Given the description of an element on the screen output the (x, y) to click on. 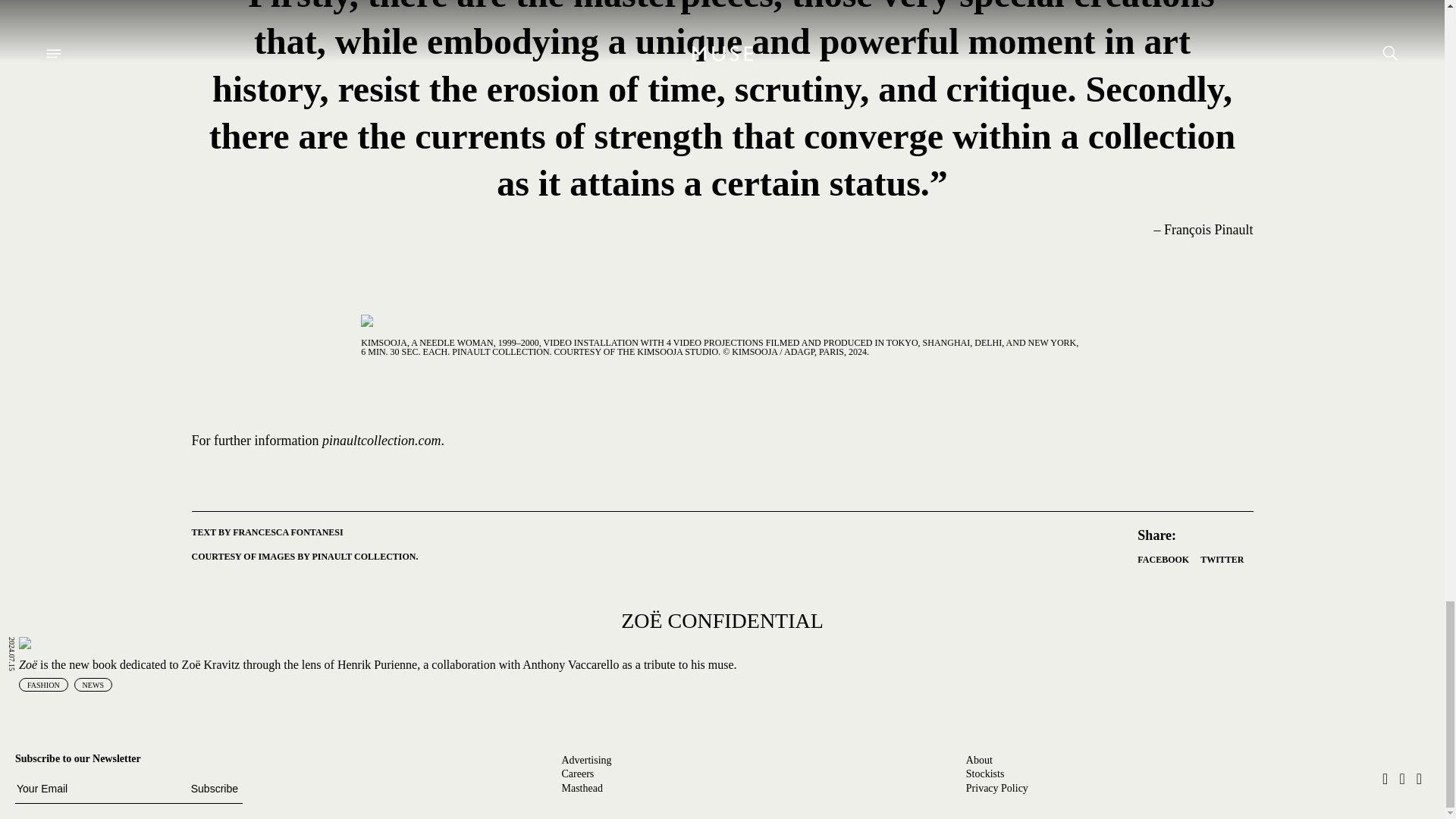
pinaultcollection.com (381, 440)
Subscribe (214, 788)
NEWS (93, 684)
FACEBOOK (1163, 560)
TWITTER (1221, 560)
FASHION (43, 684)
